Given the description of an element on the screen output the (x, y) to click on. 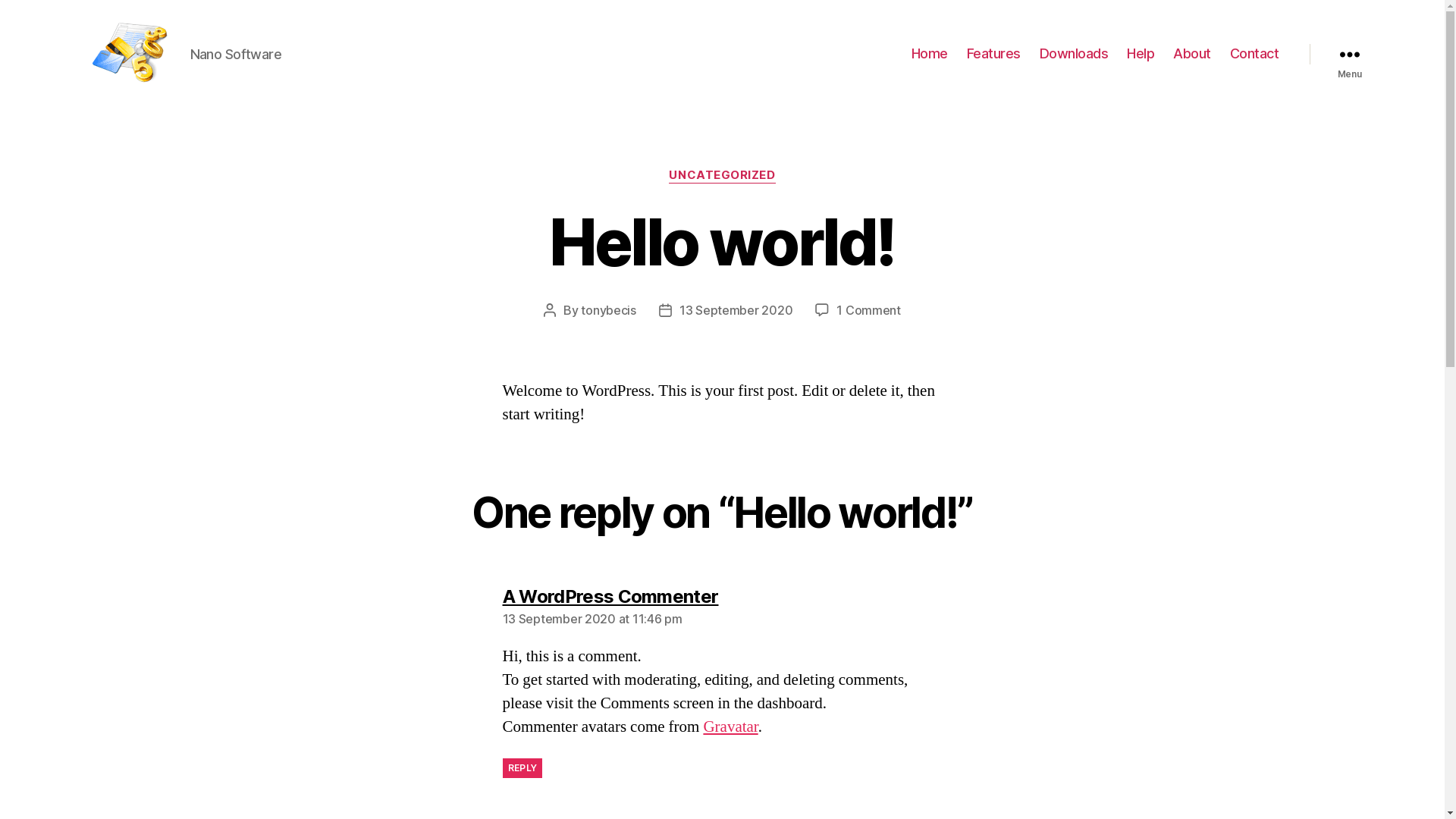
tonybecis Element type: text (608, 309)
Home Element type: text (929, 53)
1 Comment
on Hello world! Element type: text (868, 309)
UNCATEGORIZED Element type: text (721, 175)
Help Element type: text (1140, 53)
Menu Element type: text (1348, 53)
13 September 2020 Element type: text (735, 309)
Gravatar Element type: text (729, 726)
REPLY Element type: text (522, 768)
A WordPress Commenter
says: Element type: text (610, 596)
13 September 2020 at 11:46 pm Element type: text (591, 618)
Downloads Element type: text (1073, 53)
Features Element type: text (993, 53)
About Element type: text (1192, 53)
Contact Element type: text (1254, 53)
